Given the description of an element on the screen output the (x, y) to click on. 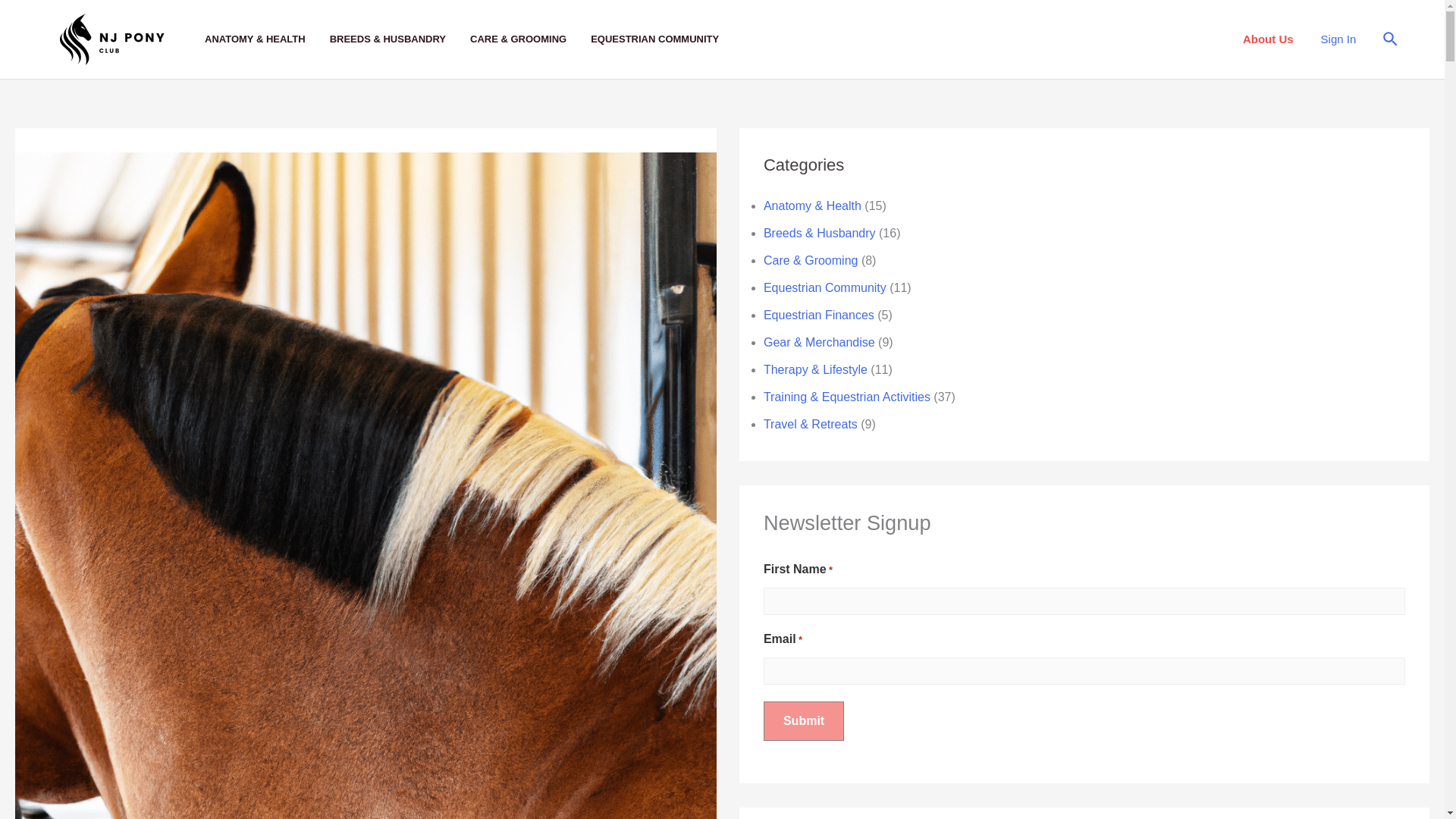
EQUESTRIAN COMMUNITY (666, 38)
Submit (803, 721)
Sign In (1338, 38)
About Us (1268, 38)
